Given the description of an element on the screen output the (x, y) to click on. 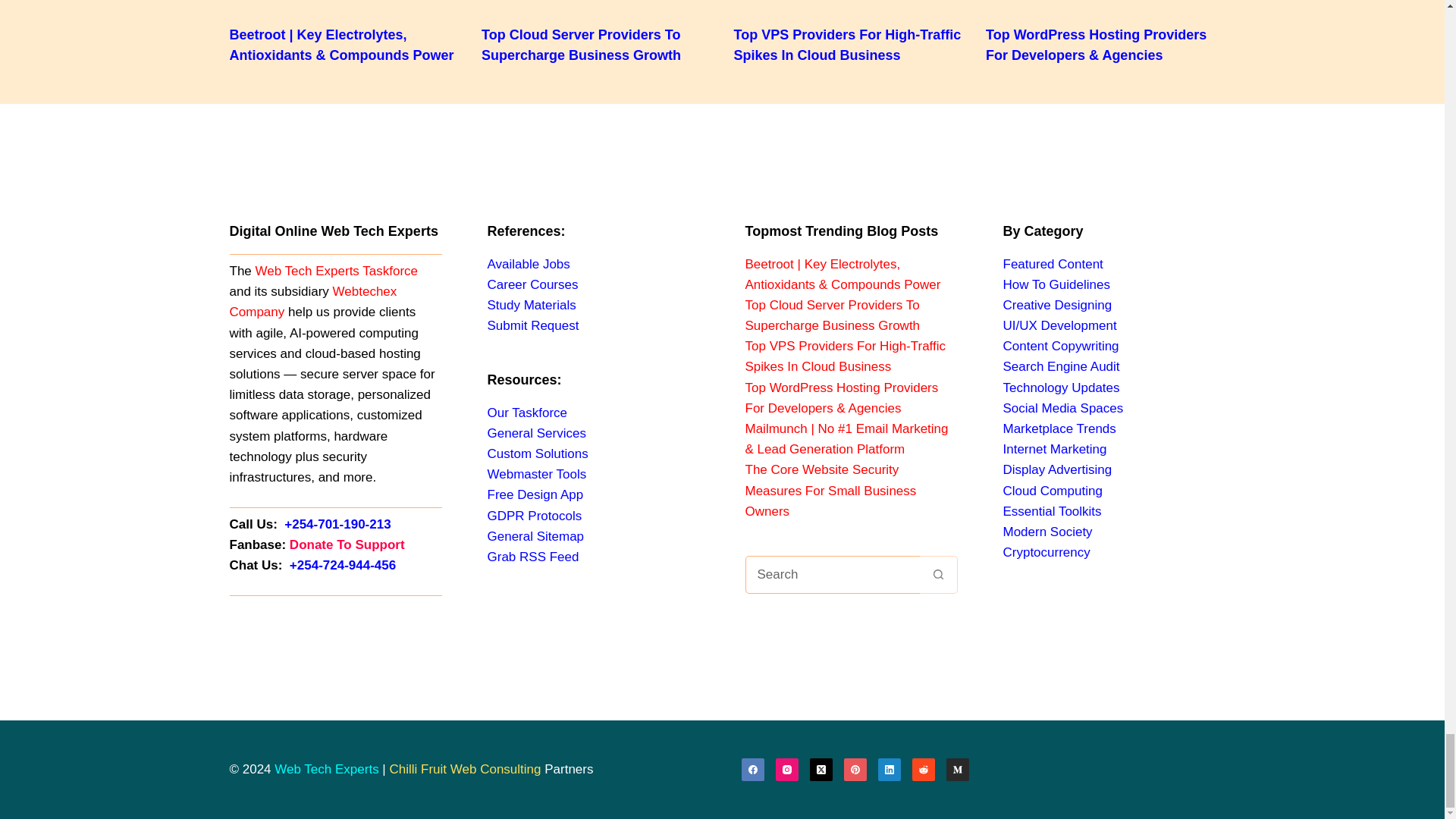
Chilli Fruit Web Consulting (465, 769)
The Web Tech Experts Taskforce Website Homepage (326, 769)
Search for... (831, 574)
The Digital Online Webtechex Support Team (312, 301)
The Web Tech Experts WhatsApp Number (342, 564)
The Digital Online Web Tech Experts Taskforce Team (337, 270)
